Given the description of an element on the screen output the (x, y) to click on. 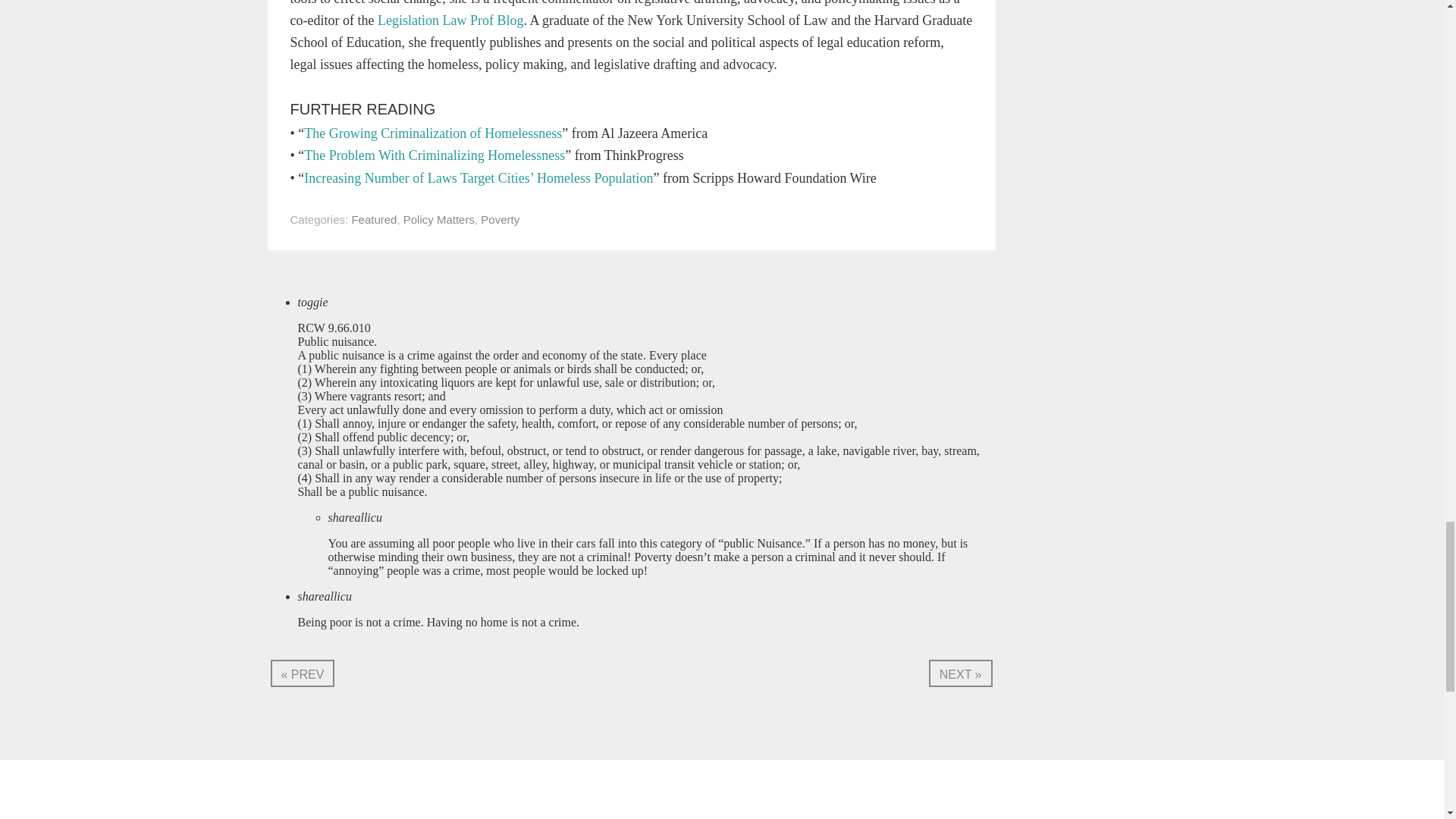
Legislation Law Prof Blog (449, 20)
Article on Scripps Howard Foundation Wire website (478, 177)
Poverty (499, 219)
The Growing Criminalization of Homelessness (433, 133)
The Problem With Criminalizing Homelessness (434, 155)
Policy Matters (438, 219)
ThinkProgress article on criminalization of homelessness (434, 155)
Featured (373, 219)
